Given the description of an element on the screen output the (x, y) to click on. 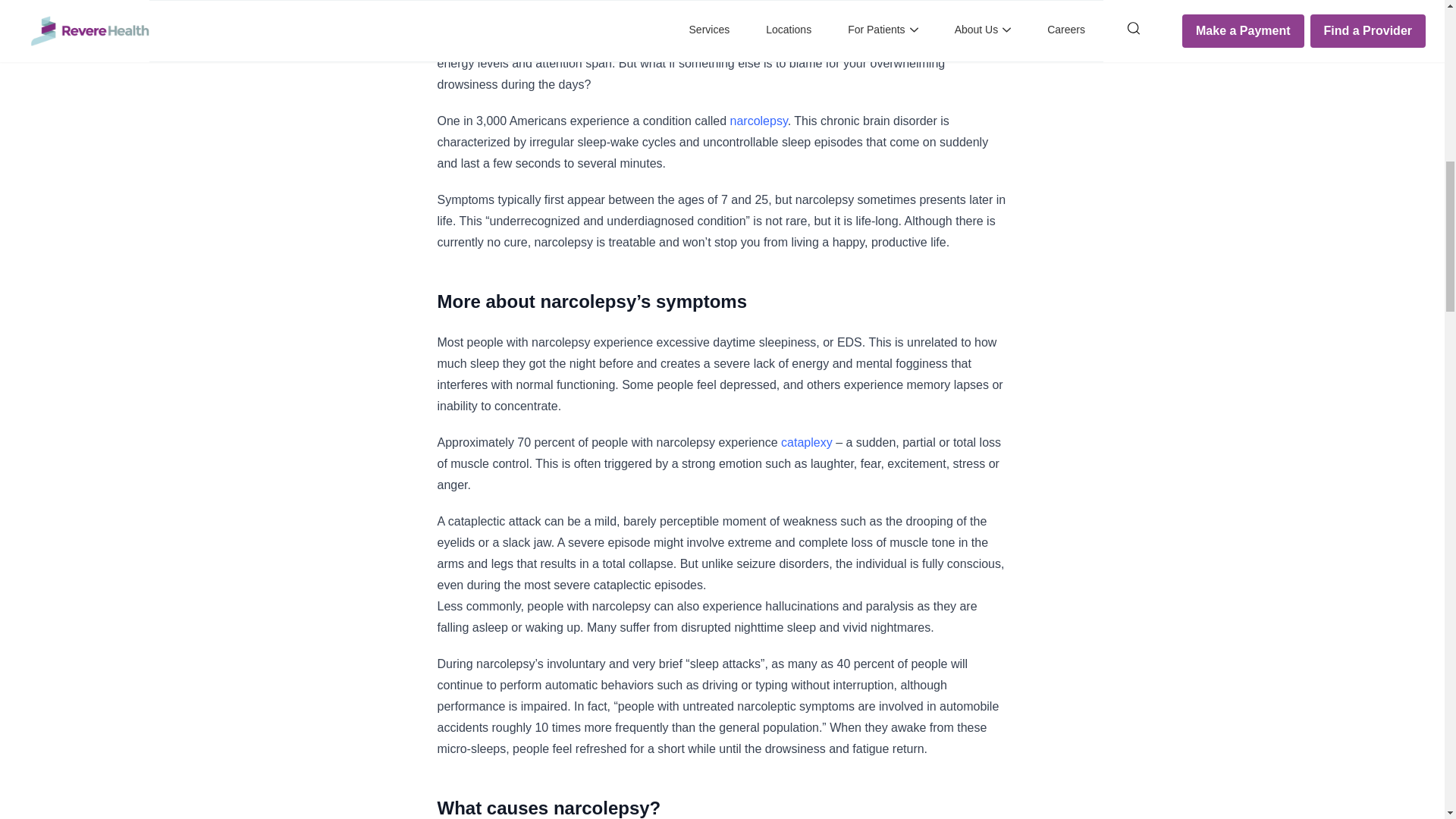
narcolepsy (758, 120)
cataplexy (806, 441)
